Given the description of an element on the screen output the (x, y) to click on. 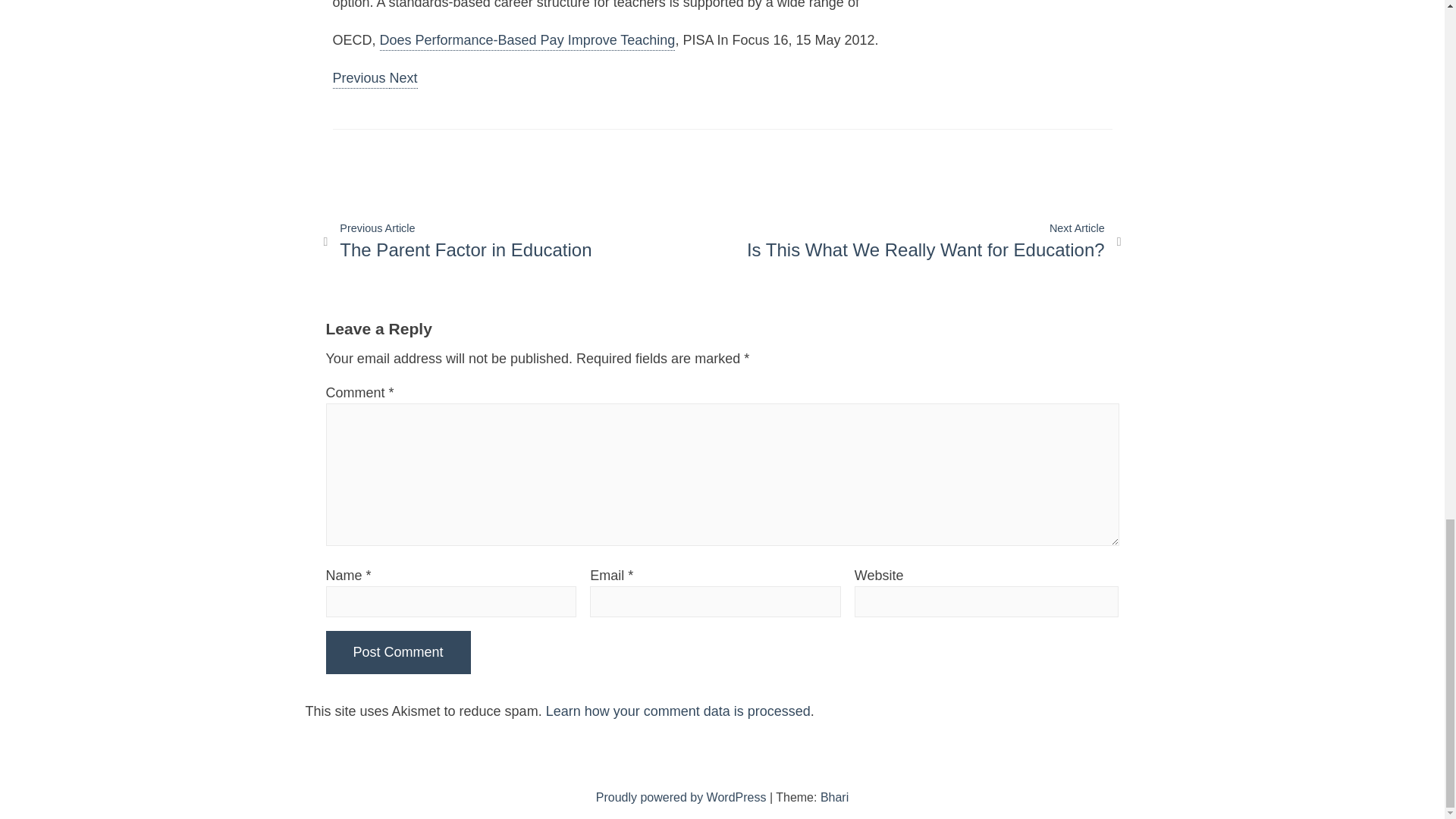
Learn how your comment data is processed (678, 711)
Does Performance-Based Pay Improve Teaching (934, 242)
Previous (527, 41)
Post Comment (359, 79)
Post Comment (398, 652)
Next (398, 652)
Proudly powered by WordPress (403, 79)
Performance Pay Does Not Even Work in Business (682, 797)
